Given the description of an element on the screen output the (x, y) to click on. 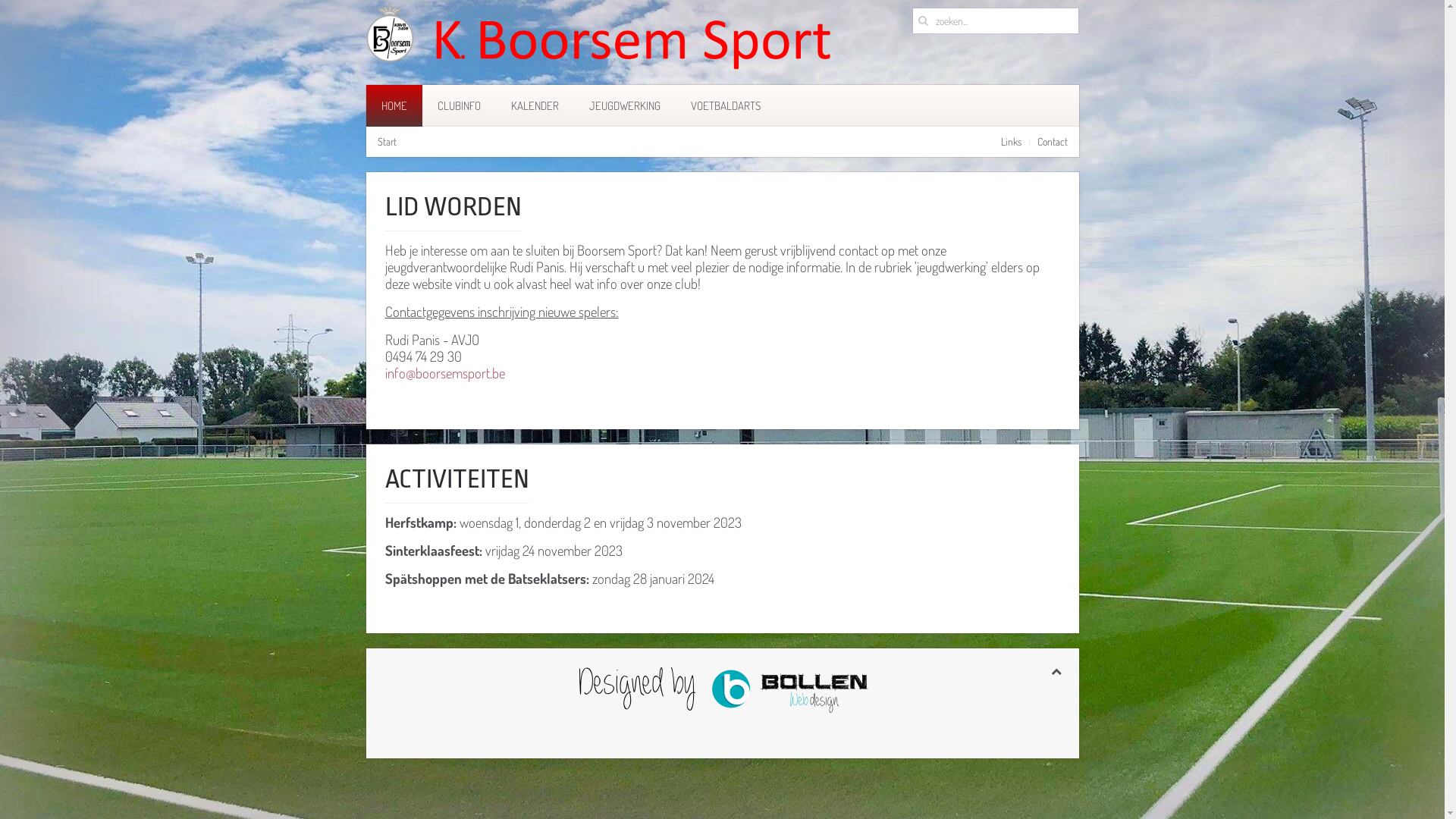
KALENDER Element type: text (534, 105)
info@boorsemsport.be Element type: text (445, 372)
JEUGDWERKING Element type: text (623, 105)
CLUBINFO Element type: text (458, 105)
Contact Element type: text (1052, 141)
Links Element type: text (1011, 141)
ACTIVITEITEN Element type: text (457, 478)
VOETBALDARTS Element type: text (724, 105)
LID WORDEN Element type: text (453, 206)
HOME Element type: text (393, 105)
